Given the description of an element on the screen output the (x, y) to click on. 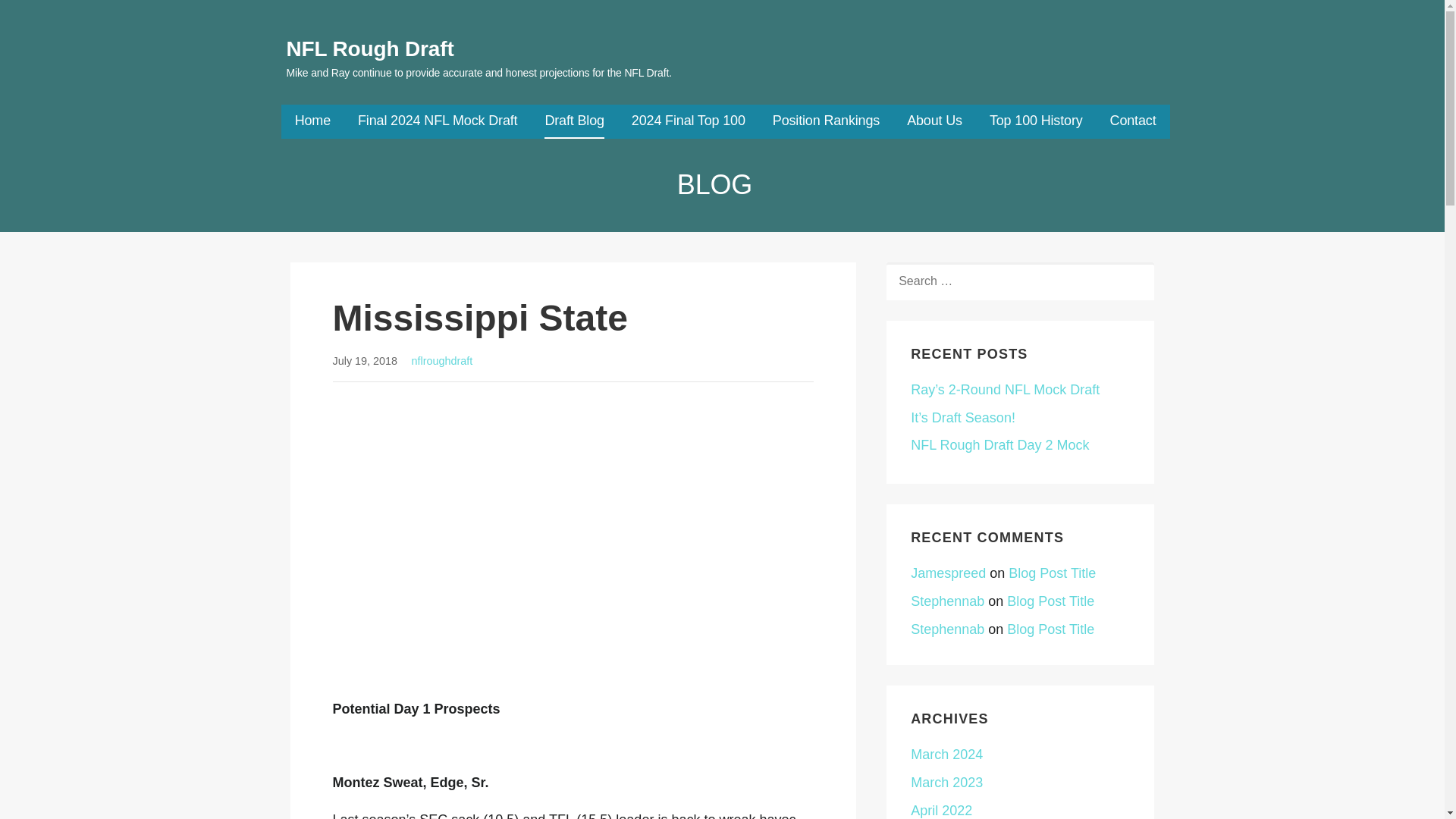
Final 2024 NFL Mock Draft (437, 121)
NFL Rough Draft Day 2 Mock (1000, 444)
nflroughdraft (440, 360)
Contact (1132, 121)
Search (47, 17)
Posts by nflroughdraft (440, 360)
Top 100 History (1036, 121)
Blog Post Title (1052, 572)
2024 Final Top 100 (688, 121)
Home (312, 121)
